Given the description of an element on the screen output the (x, y) to click on. 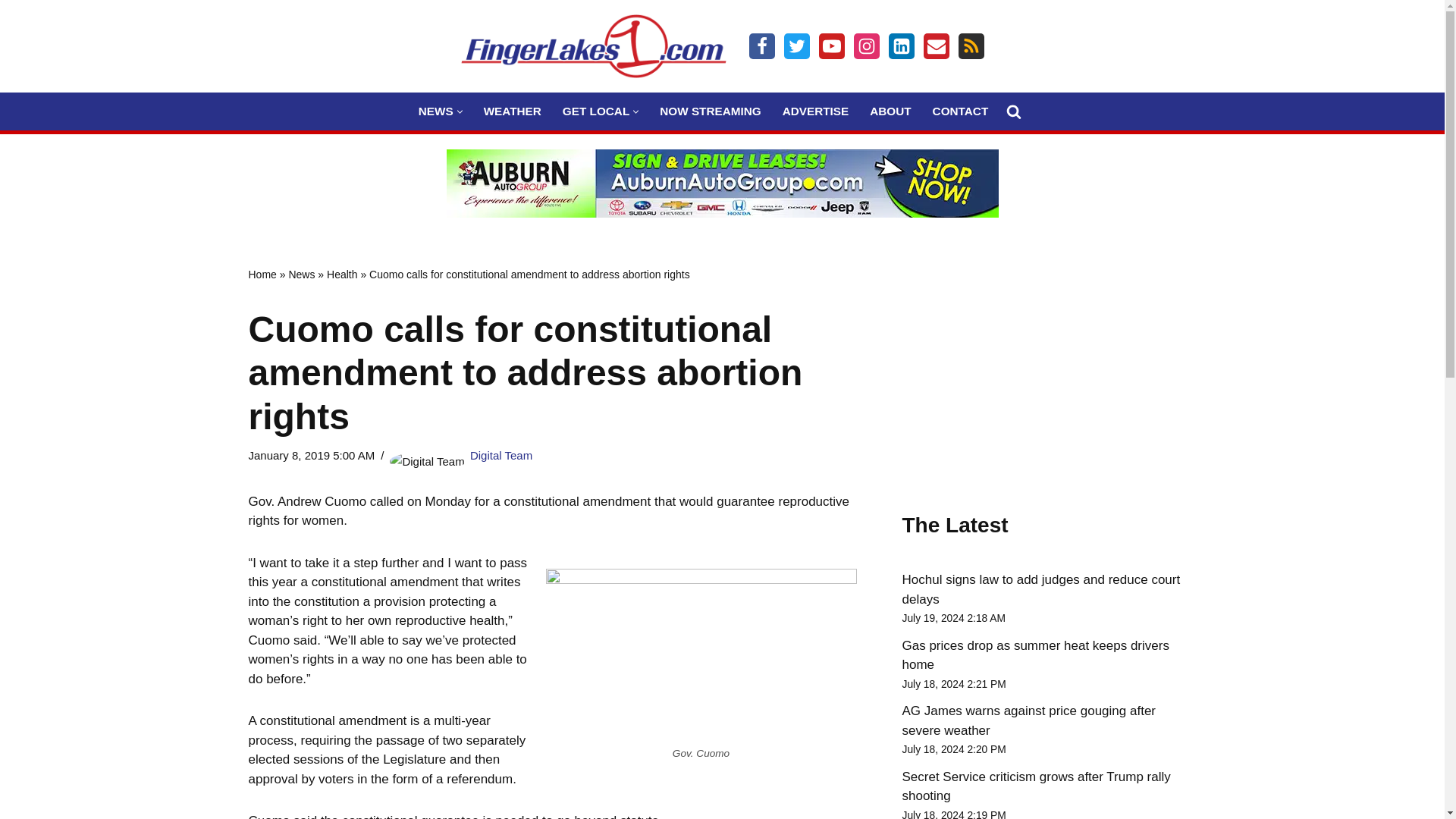
Feed (971, 45)
Instagram (866, 45)
Email Us (936, 45)
NOW STREAMING (709, 111)
ABOUT (890, 111)
CONTACT (960, 111)
WEATHER (512, 111)
Twitter (796, 45)
LinkIn (901, 45)
GET LOCAL (595, 111)
Facebook (761, 45)
Youtube (831, 45)
NEWS (435, 111)
ADVERTISE (815, 111)
Posts by Digital Team (501, 454)
